Given the description of an element on the screen output the (x, y) to click on. 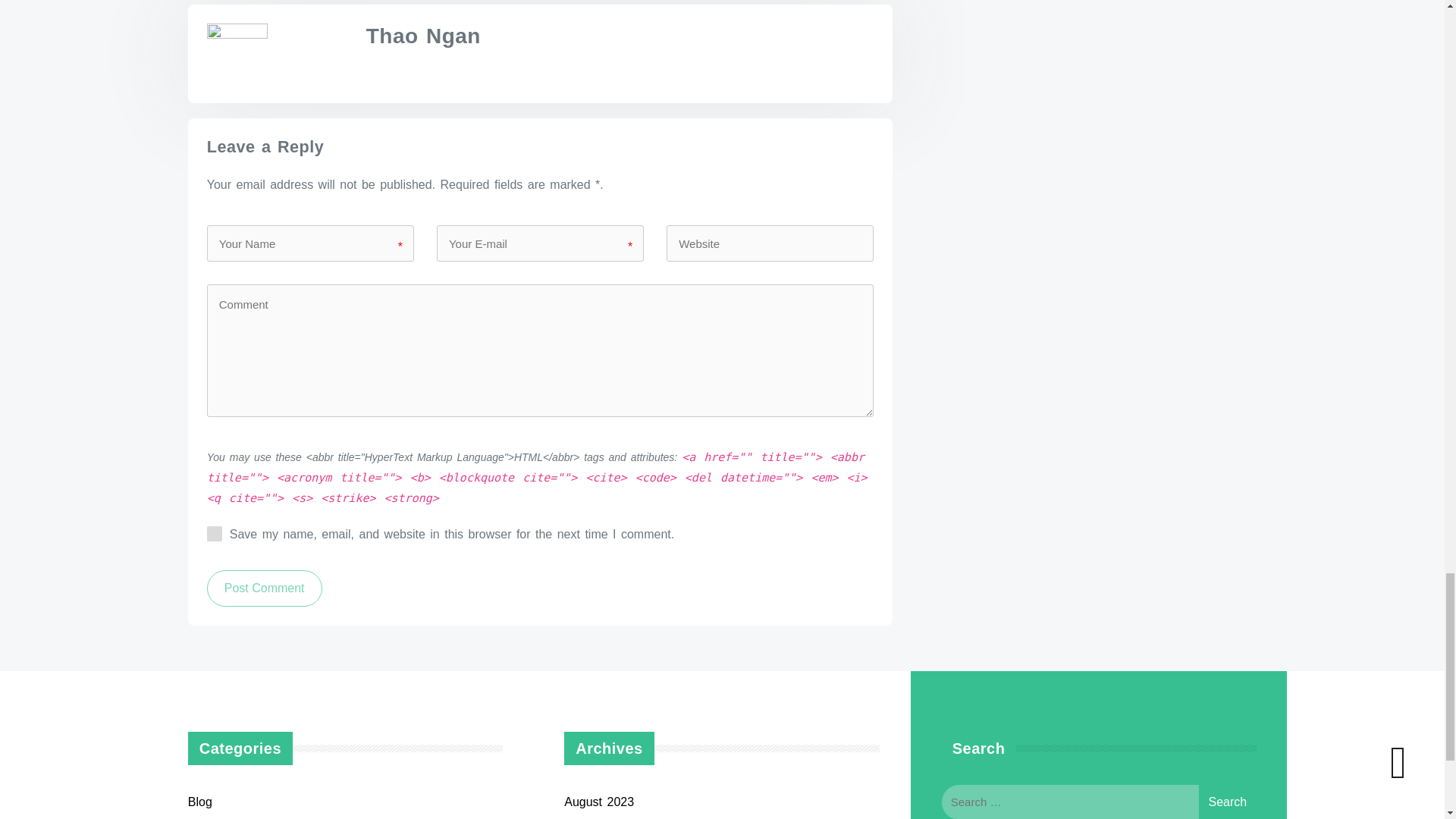
Post Comment (263, 588)
Search (1227, 801)
Search (1227, 801)
August 2023 (598, 801)
yes (214, 533)
Blog (199, 801)
Search (1227, 801)
